Given the description of an element on the screen output the (x, y) to click on. 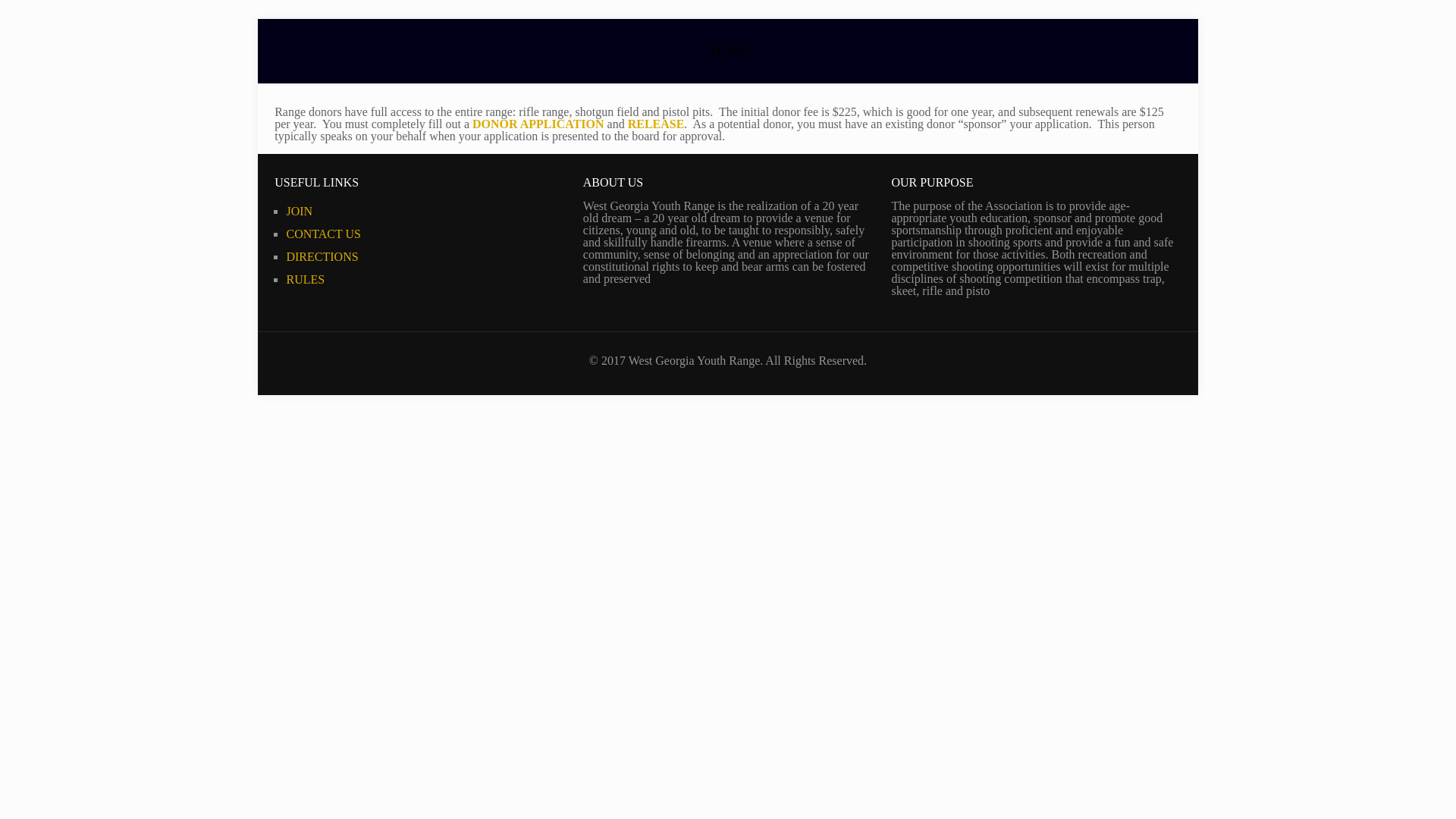
CONTACT US (322, 233)
DONOR APPLICATION (536, 123)
JOIN (299, 210)
DIRECTIONS (321, 256)
RULES (304, 278)
RELEASE (654, 123)
